Given the description of an element on the screen output the (x, y) to click on. 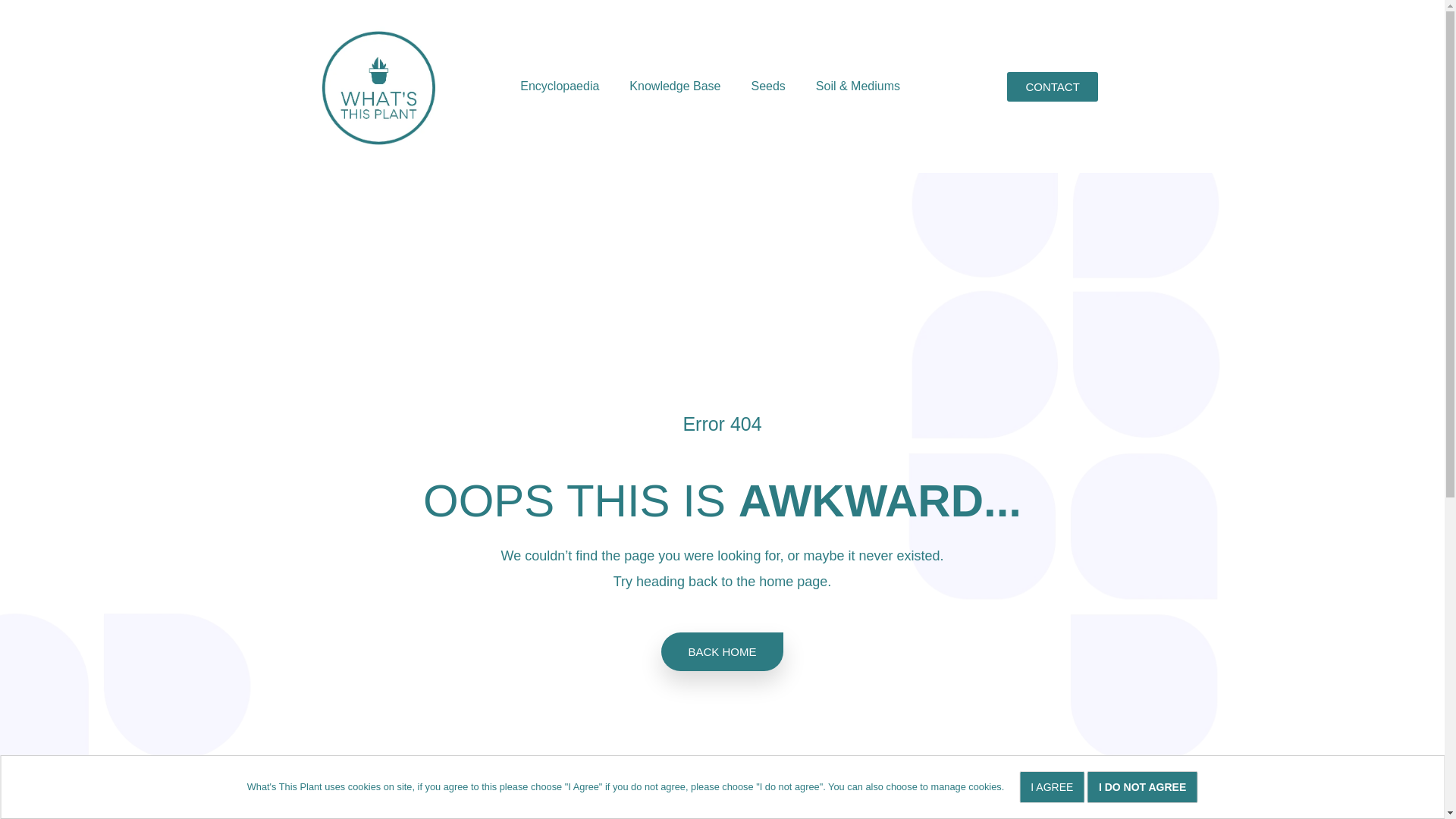
CONTACT (1052, 85)
Knowledge Base (674, 86)
I AGREE (1051, 787)
Encyclopaedia (559, 86)
BACK HOME (722, 651)
Seeds (767, 86)
MANAGE COOKIES (74, 787)
I DO NOT AGREE (1141, 787)
